Given the description of an element on the screen output the (x, y) to click on. 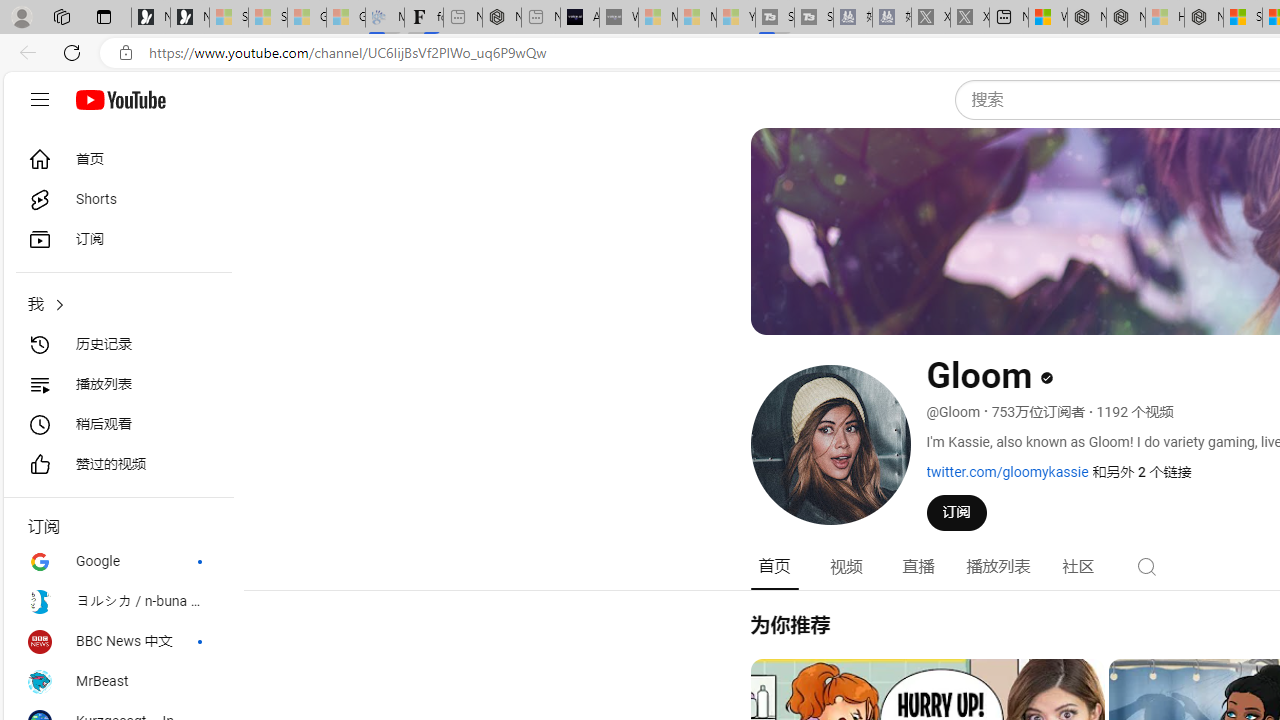
Shorts (117, 200)
MrBeast (117, 681)
AI Voice Changer for PC and Mac - Voice.ai (579, 17)
